Given the description of an element on the screen output the (x, y) to click on. 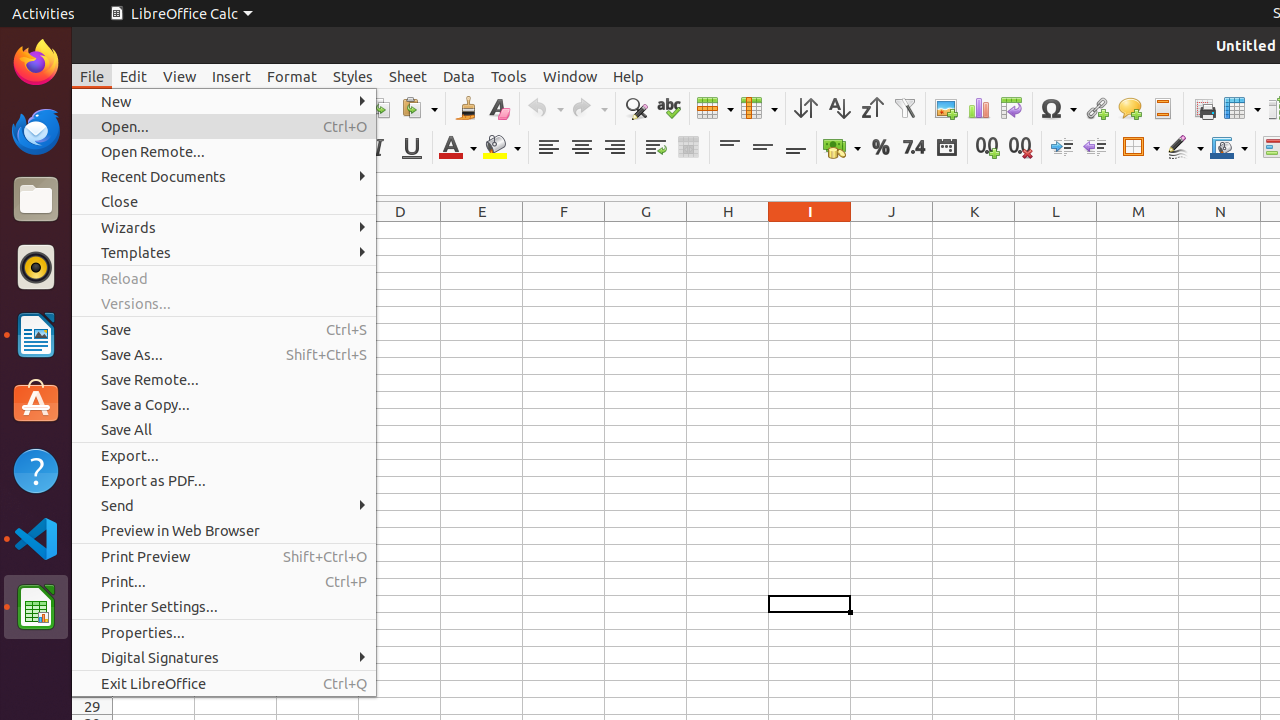
Print... Element type: menu-item (224, 581)
Templates Element type: menu (224, 252)
Exit LibreOffice Element type: menu-item (224, 683)
Align Top Element type: push-button (729, 147)
Save All Element type: menu-item (224, 429)
